Given the description of an element on the screen output the (x, y) to click on. 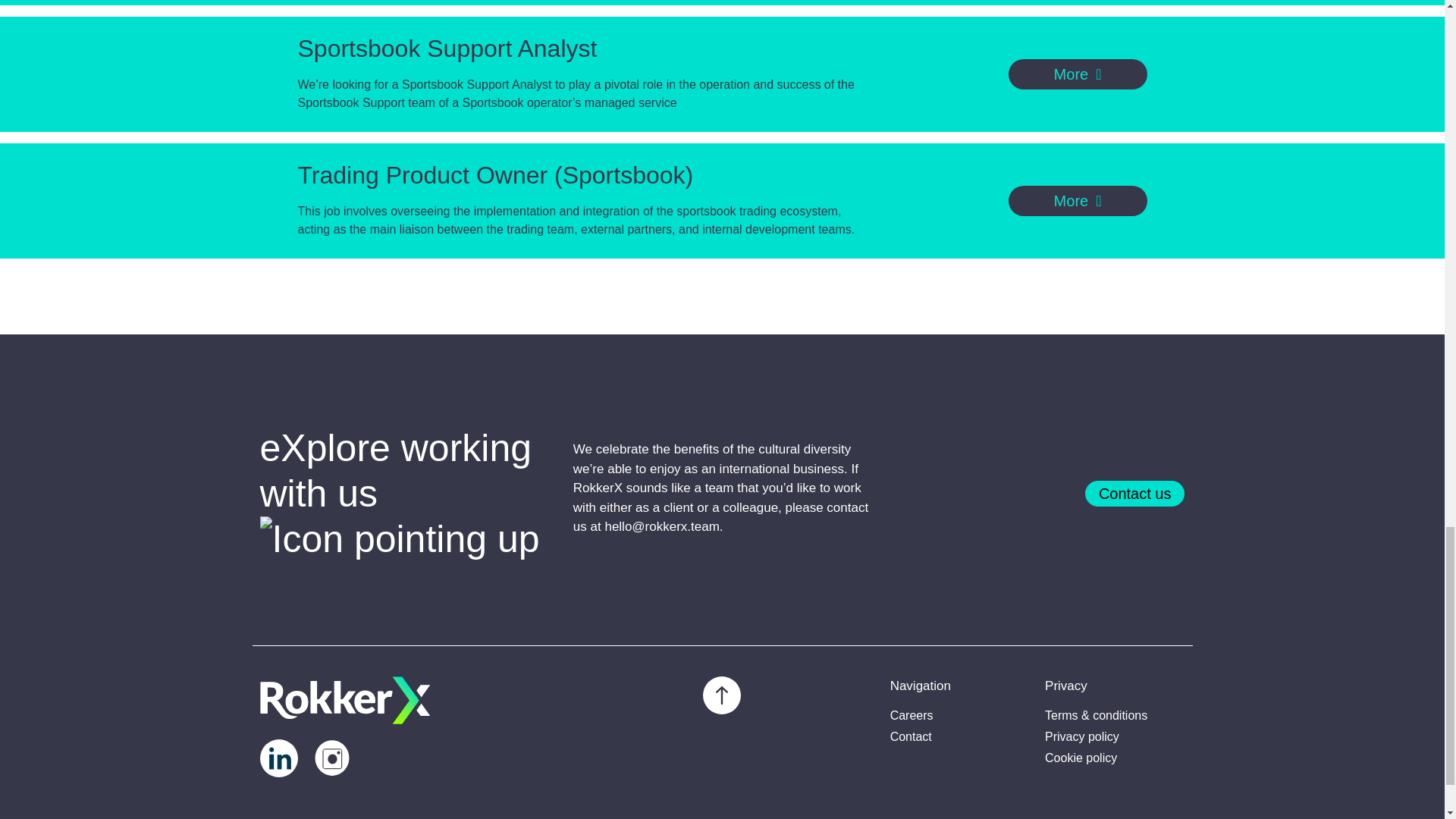
Contact (959, 737)
Contact us (1134, 493)
Privacy policy (1115, 737)
More (1078, 200)
Careers (959, 715)
More (1078, 73)
Cookie policy (1115, 758)
